Given the description of an element on the screen output the (x, y) to click on. 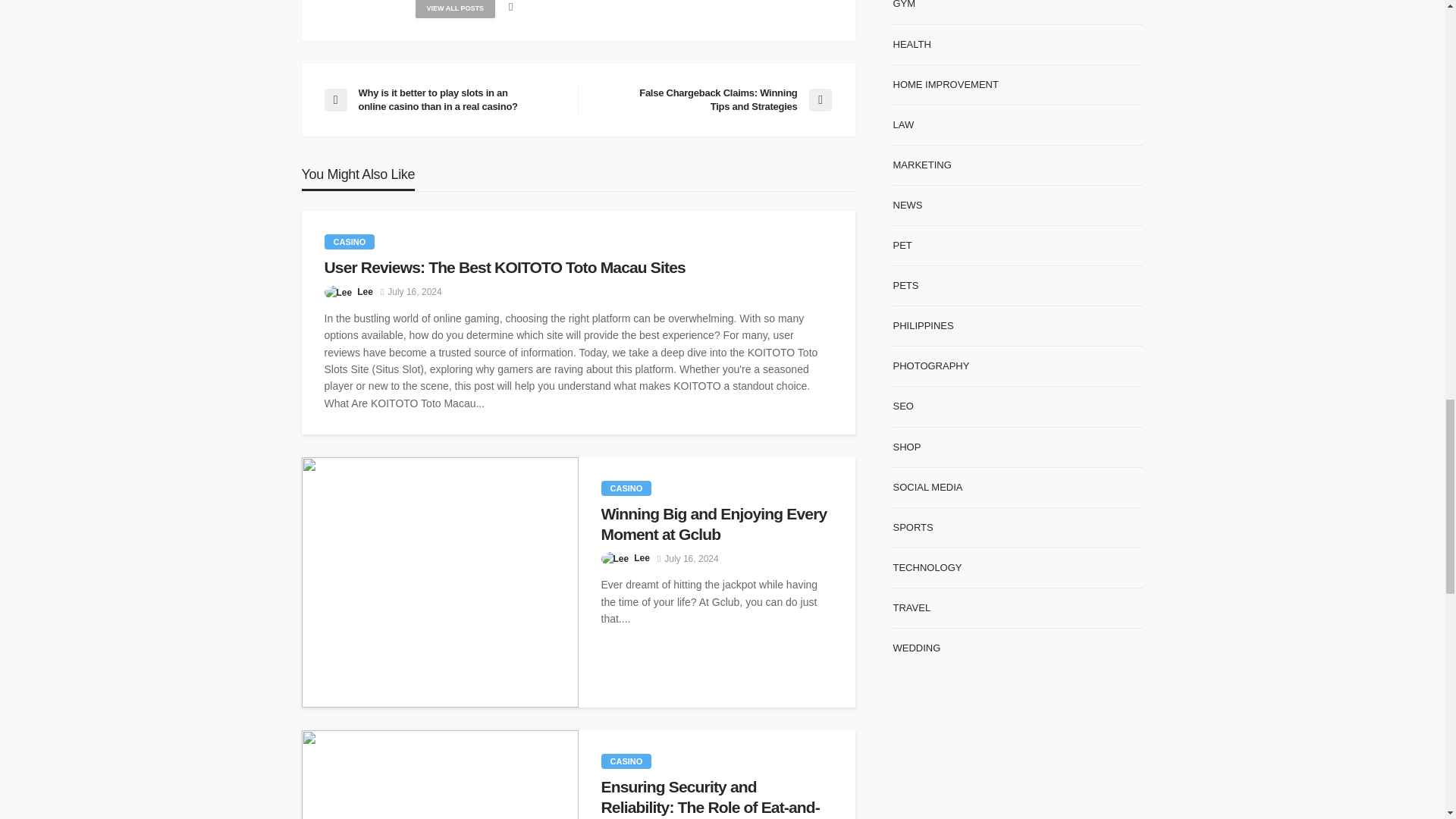
CASINO (349, 241)
Casino (624, 488)
Lee (364, 291)
Casino (624, 761)
Winning Big and Enjoying Every Moment at Gclub (439, 582)
False Chargeback Claims: Winning Tips and Strategies (711, 99)
User Reviews: The Best KOITOTO Toto Macau Sites (578, 267)
CASINO (624, 488)
CASINO (624, 761)
VIEW ALL POSTS (455, 9)
